Given the description of an element on the screen output the (x, y) to click on. 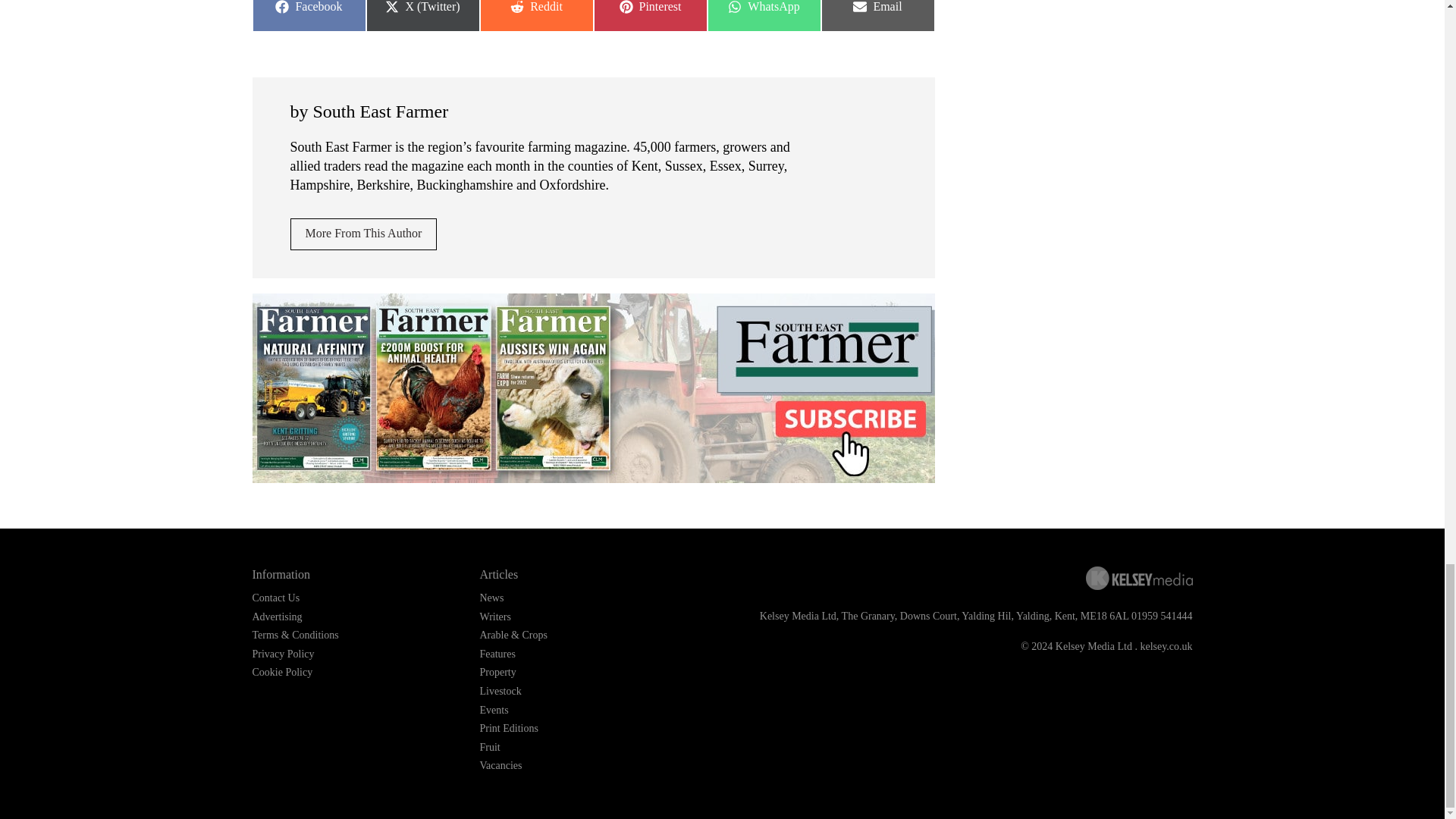
More From This Author (362, 234)
Contact Us (649, 15)
Advertising (763, 15)
